Given the description of an element on the screen output the (x, y) to click on. 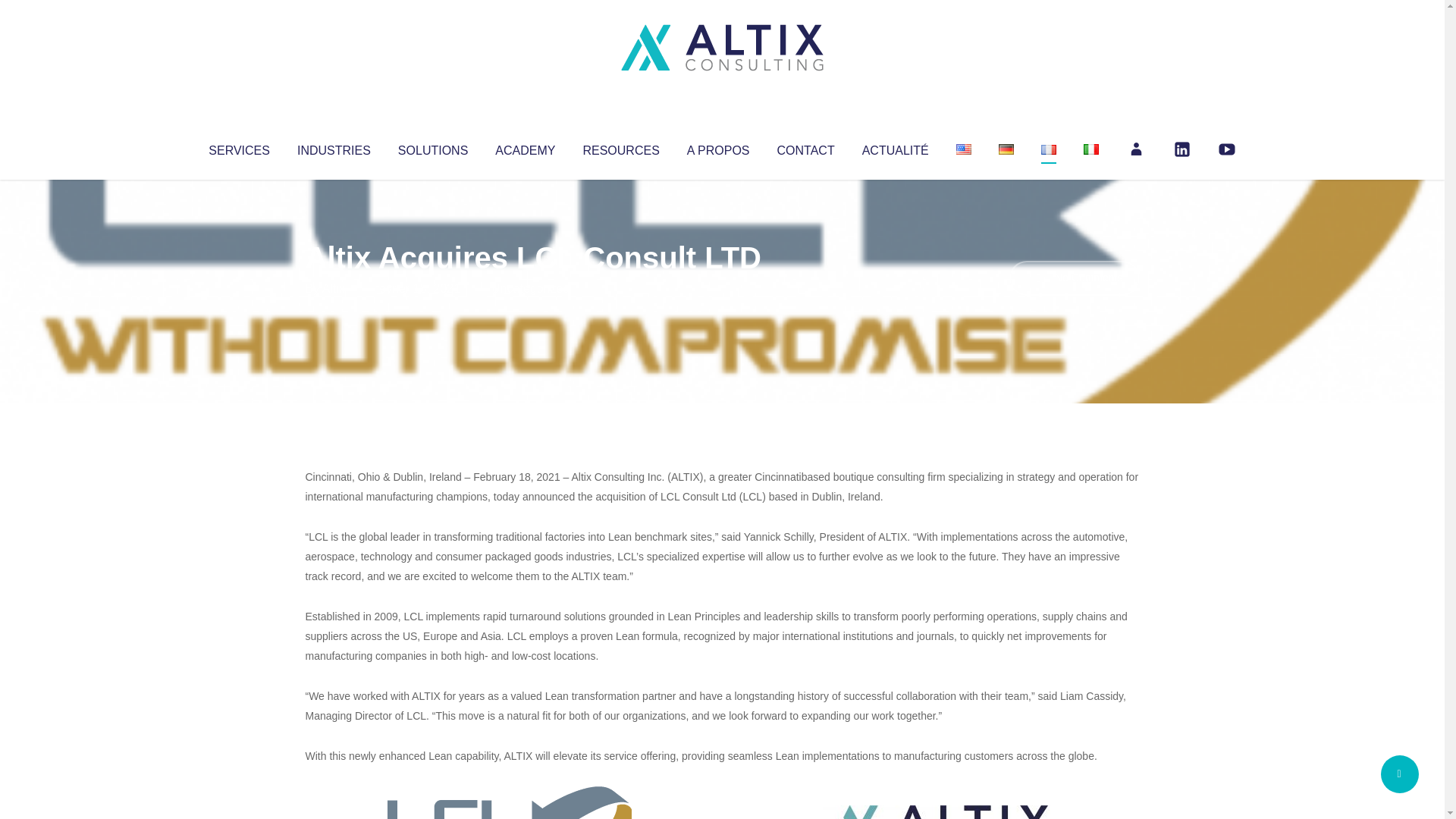
INDUSTRIES (334, 146)
No Comments (1073, 278)
Altix (333, 287)
SOLUTIONS (432, 146)
Uncategorized (530, 287)
ACADEMY (524, 146)
SERVICES (238, 146)
RESOURCES (620, 146)
A PROPOS (718, 146)
Articles par Altix (333, 287)
